Given the description of an element on the screen output the (x, y) to click on. 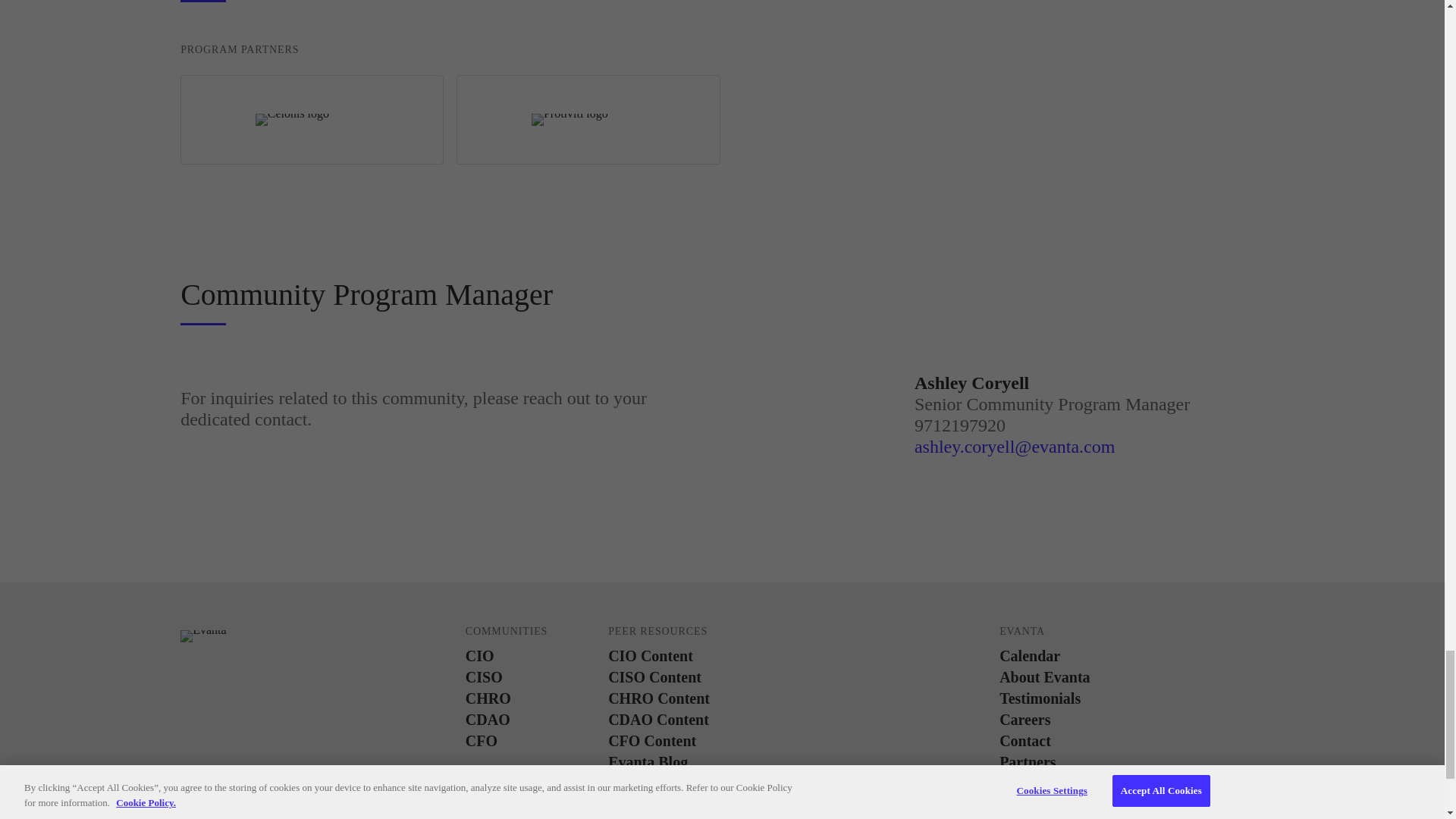
Celonis logo (292, 119)
Protiviti logo (569, 119)
